Given the description of an element on the screen output the (x, y) to click on. 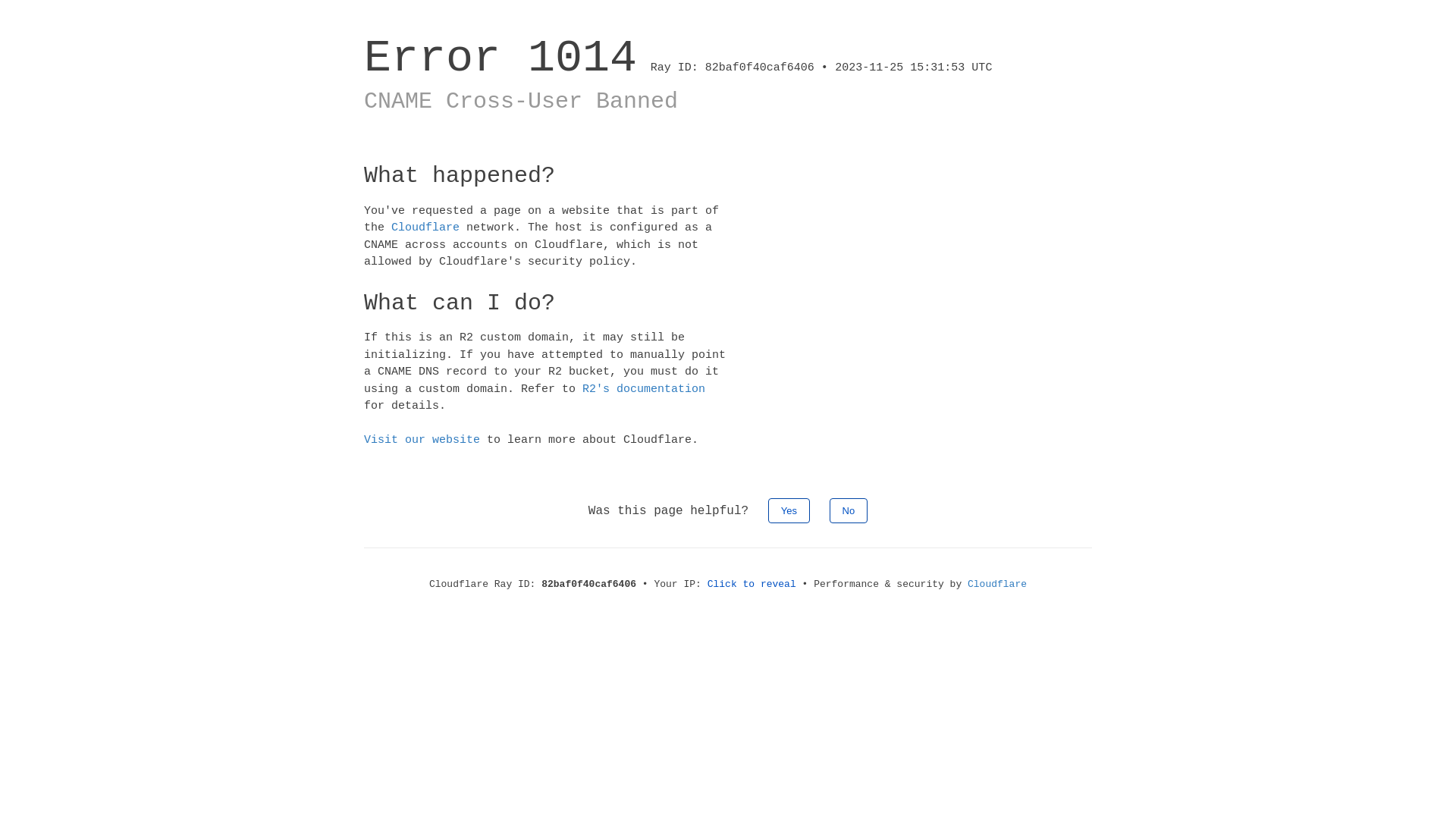
Click to reveal Element type: text (751, 583)
Cloudflare Element type: text (425, 227)
No Element type: text (848, 509)
Visit our website Element type: text (422, 439)
Cloudflare Element type: text (996, 583)
Yes Element type: text (788, 509)
R2's documentation Element type: text (643, 388)
